Given the description of an element on the screen output the (x, y) to click on. 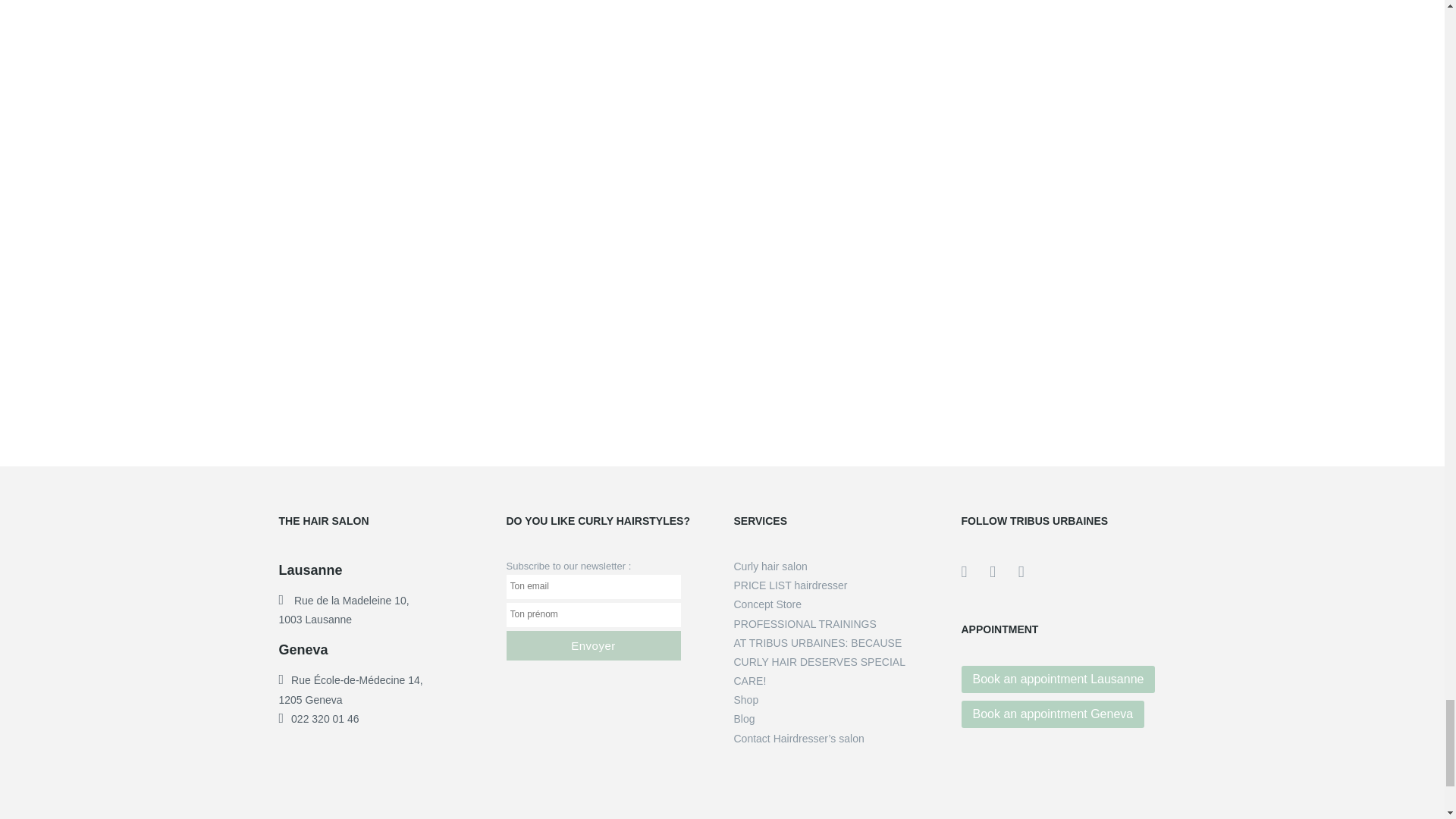
Curly hair salon (770, 566)
Envoyer (593, 645)
Concept Store (767, 604)
Facebook (975, 570)
PRICE LIST hairdresser (790, 585)
Youtube (1003, 570)
Blog (744, 718)
Envoyer (593, 645)
Shop (745, 699)
